Given the description of an element on the screen output the (x, y) to click on. 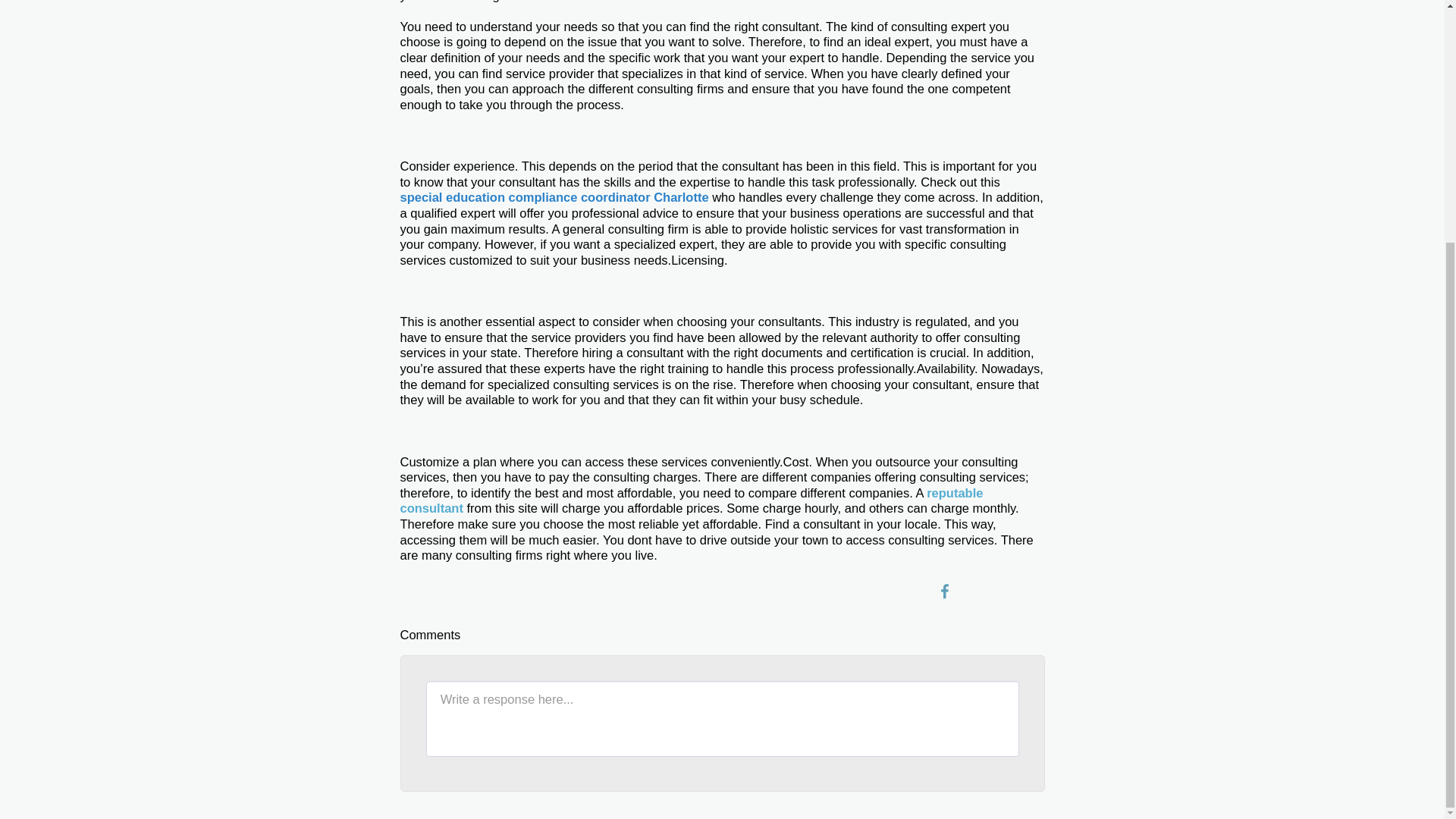
special education compliance coordinator Charlotte (554, 196)
Tweet (973, 590)
reputable consultant (692, 500)
Share on Facebook (945, 590)
Pin it (1002, 590)
RSS (1029, 590)
